Given the description of an element on the screen output the (x, y) to click on. 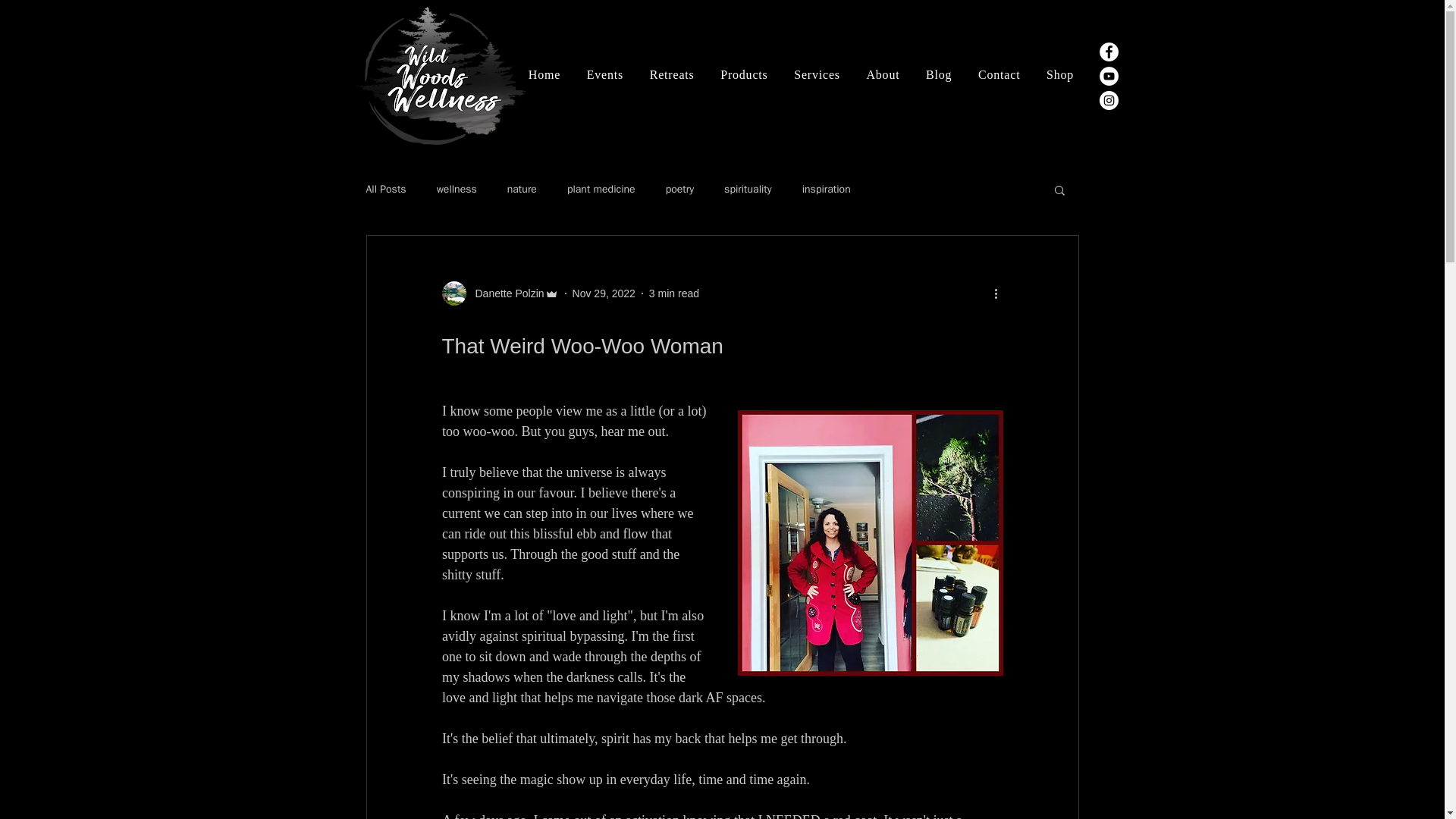
About (882, 74)
Services (816, 74)
nature (521, 189)
Retreats (671, 74)
Danette Polzin (504, 293)
Events (604, 74)
inspiration (826, 189)
Blog (938, 74)
spirituality (747, 189)
Nov 29, 2022 (603, 292)
